Given the description of an element on the screen output the (x, y) to click on. 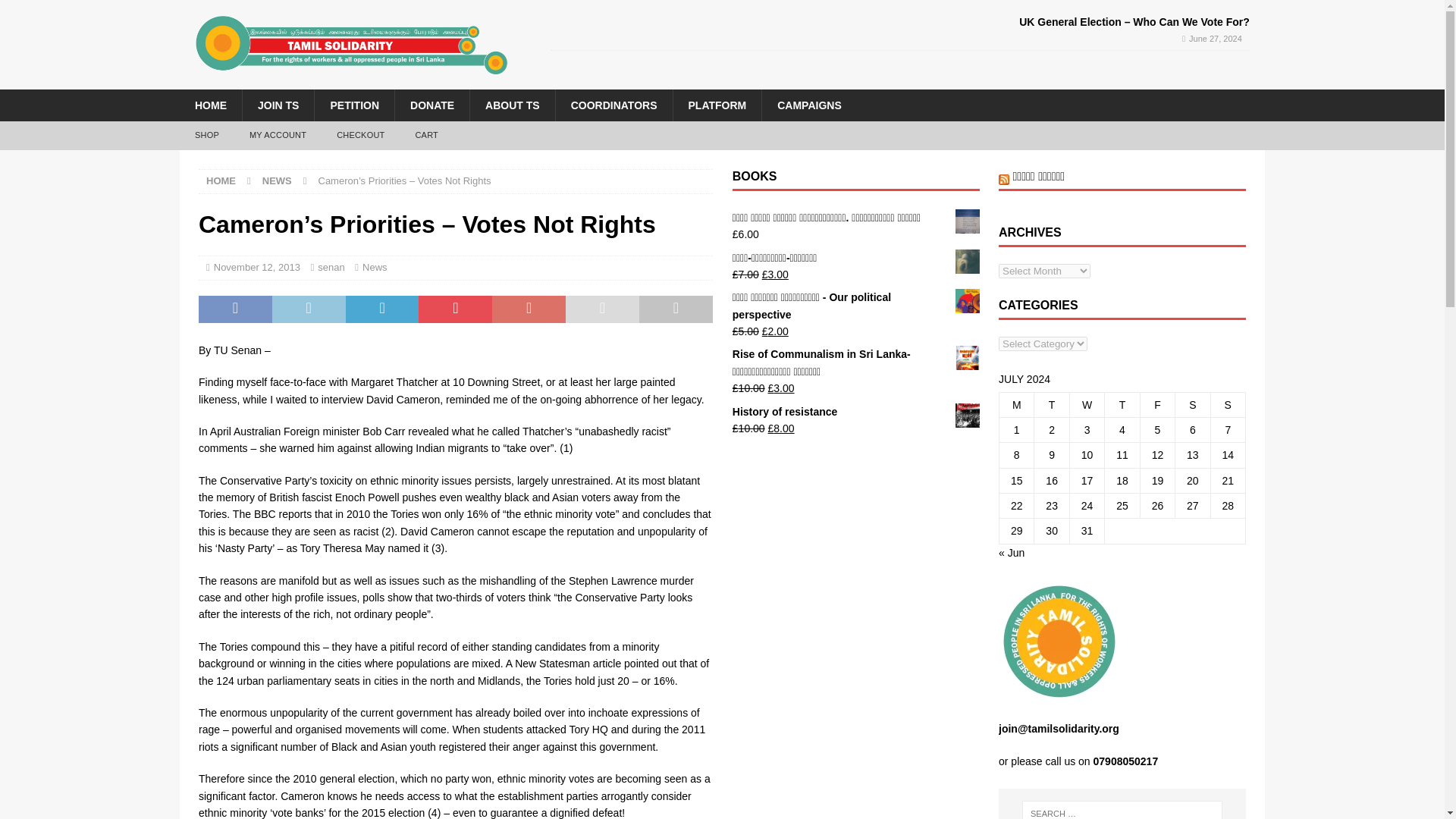
HOME (210, 105)
Tuesday (1050, 404)
HOME (220, 180)
June 27, 2024 (1215, 38)
JOIN TS (277, 105)
DONATE (431, 105)
PLATFORM (716, 105)
News (374, 266)
ABOUT TS (511, 105)
COORDINATORS (613, 105)
CART (425, 135)
NEWS (277, 180)
CAMPAIGNS (809, 105)
senan (330, 266)
SHOP (206, 135)
